Given the description of an element on the screen output the (x, y) to click on. 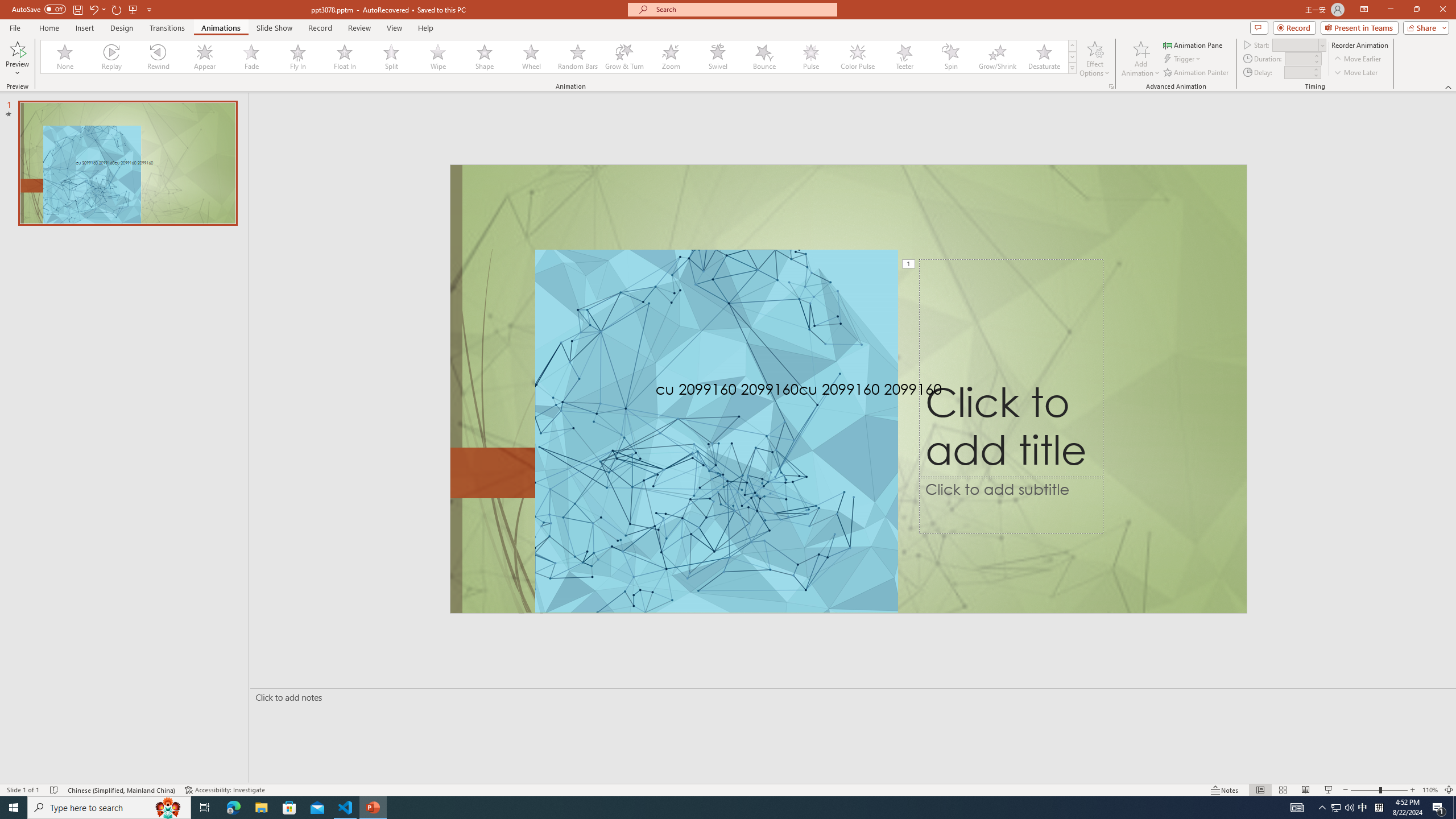
Wheel (531, 56)
Effect Options (1094, 58)
More (1315, 69)
Animation Pane (1193, 44)
